Given the description of an element on the screen output the (x, y) to click on. 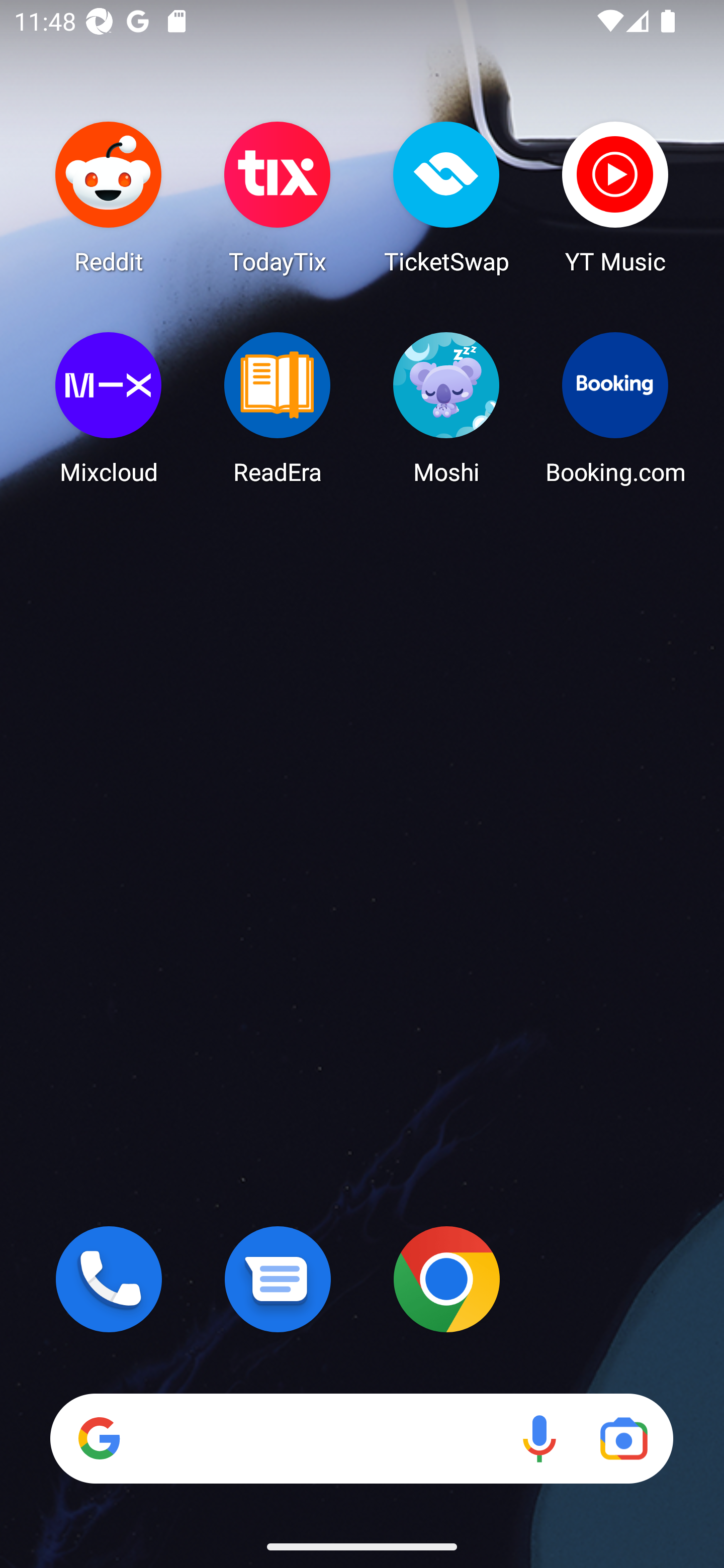
Reddit (108, 196)
TodayTix (277, 196)
TicketSwap (445, 196)
YT Music (615, 196)
Mixcloud (108, 407)
ReadEra (277, 407)
Moshi (445, 407)
Booking.com (615, 407)
Phone (108, 1279)
Messages (277, 1279)
Chrome (446, 1279)
Search Voice search Google Lens (361, 1438)
Voice search (539, 1438)
Google Lens (623, 1438)
